Given the description of an element on the screen output the (x, y) to click on. 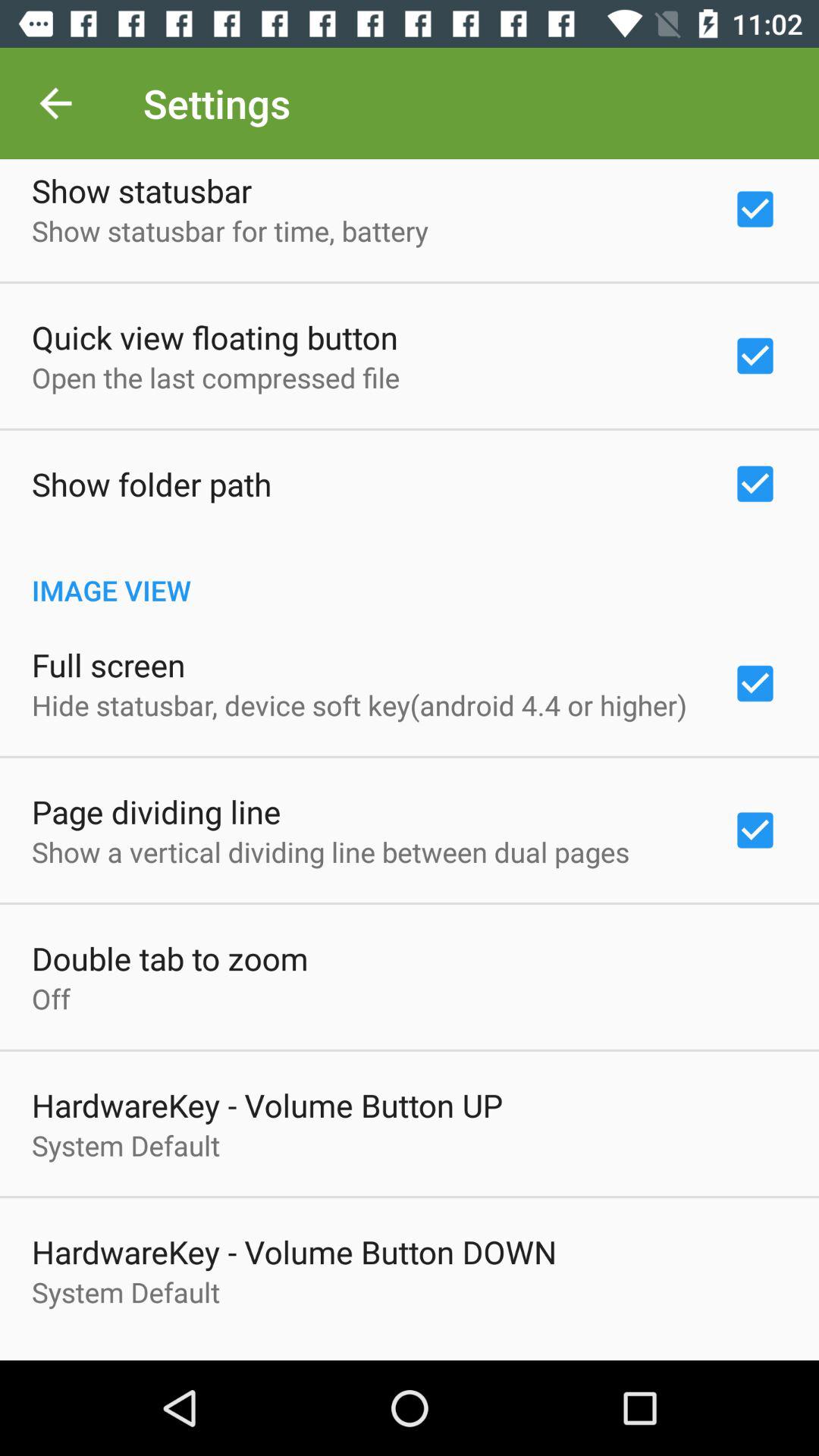
turn off item above full screen (409, 574)
